Given the description of an element on the screen output the (x, y) to click on. 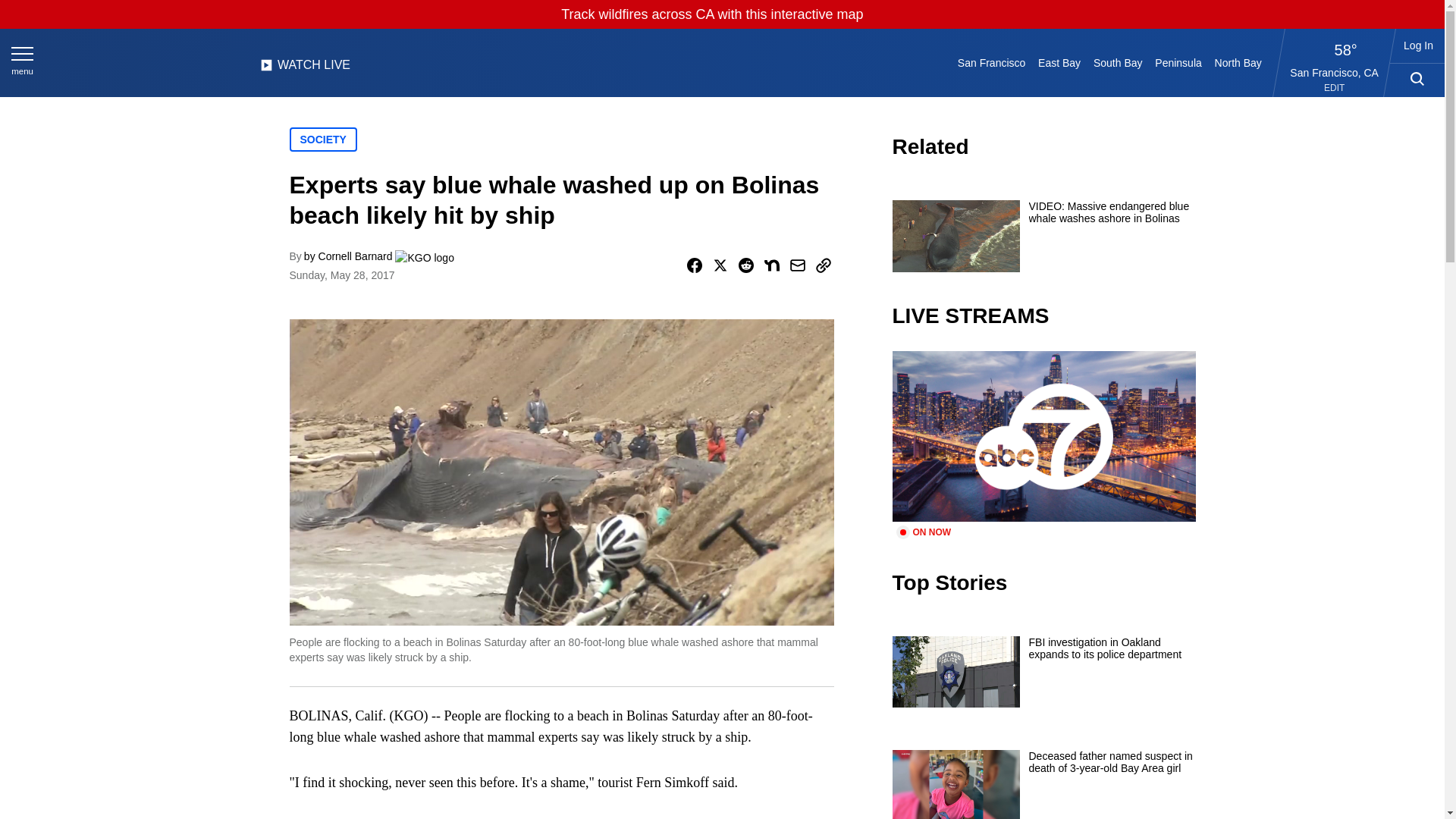
EDIT (1333, 87)
East Bay (1059, 62)
Peninsula (1178, 62)
WATCH LIVE (305, 69)
San Francisco (990, 62)
San Francisco, CA (1334, 72)
South Bay (1117, 62)
North Bay (1238, 62)
